Given the description of an element on the screen output the (x, y) to click on. 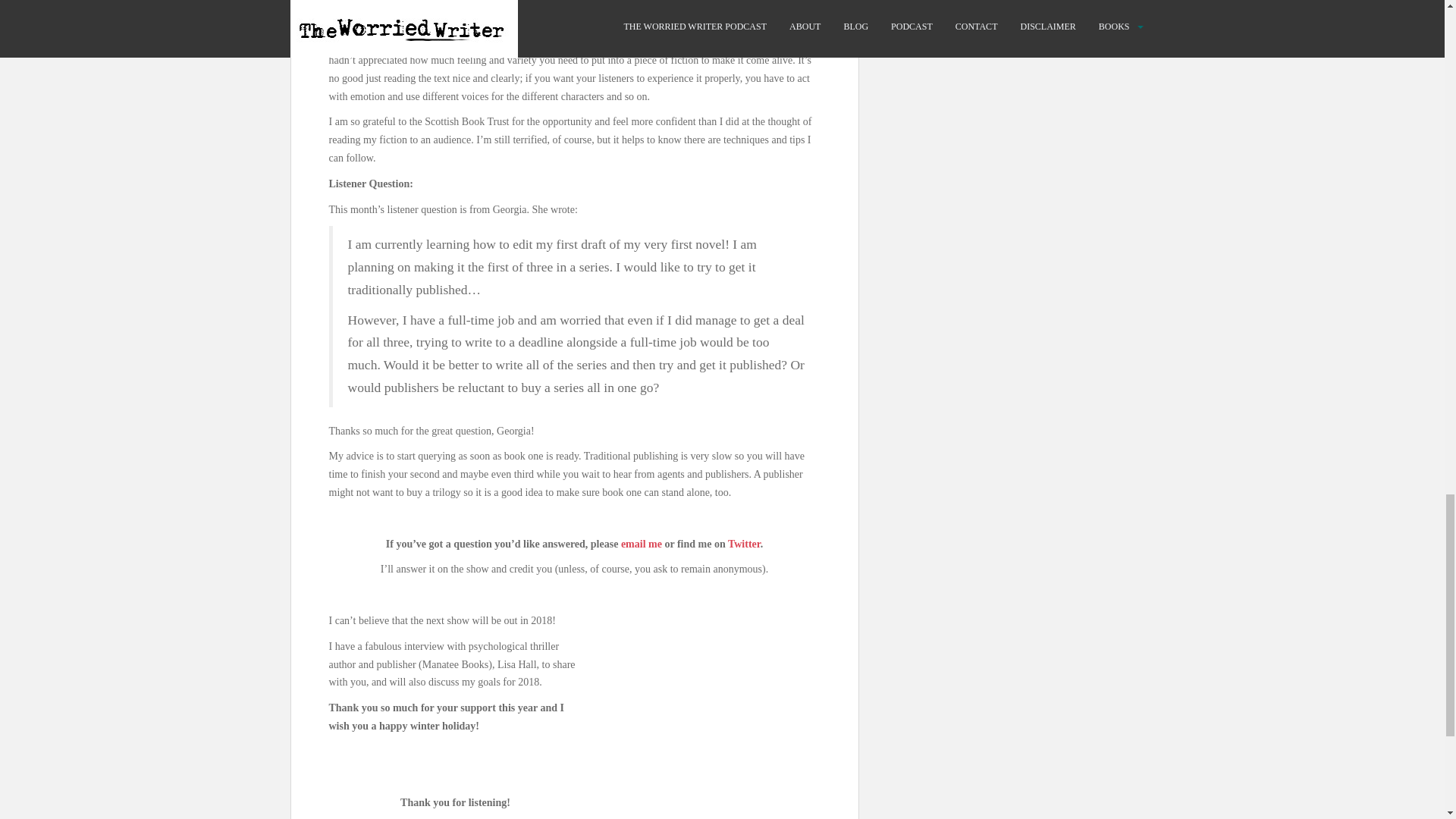
email me (641, 543)
Twitter (744, 543)
